Given the description of an element on the screen output the (x, y) to click on. 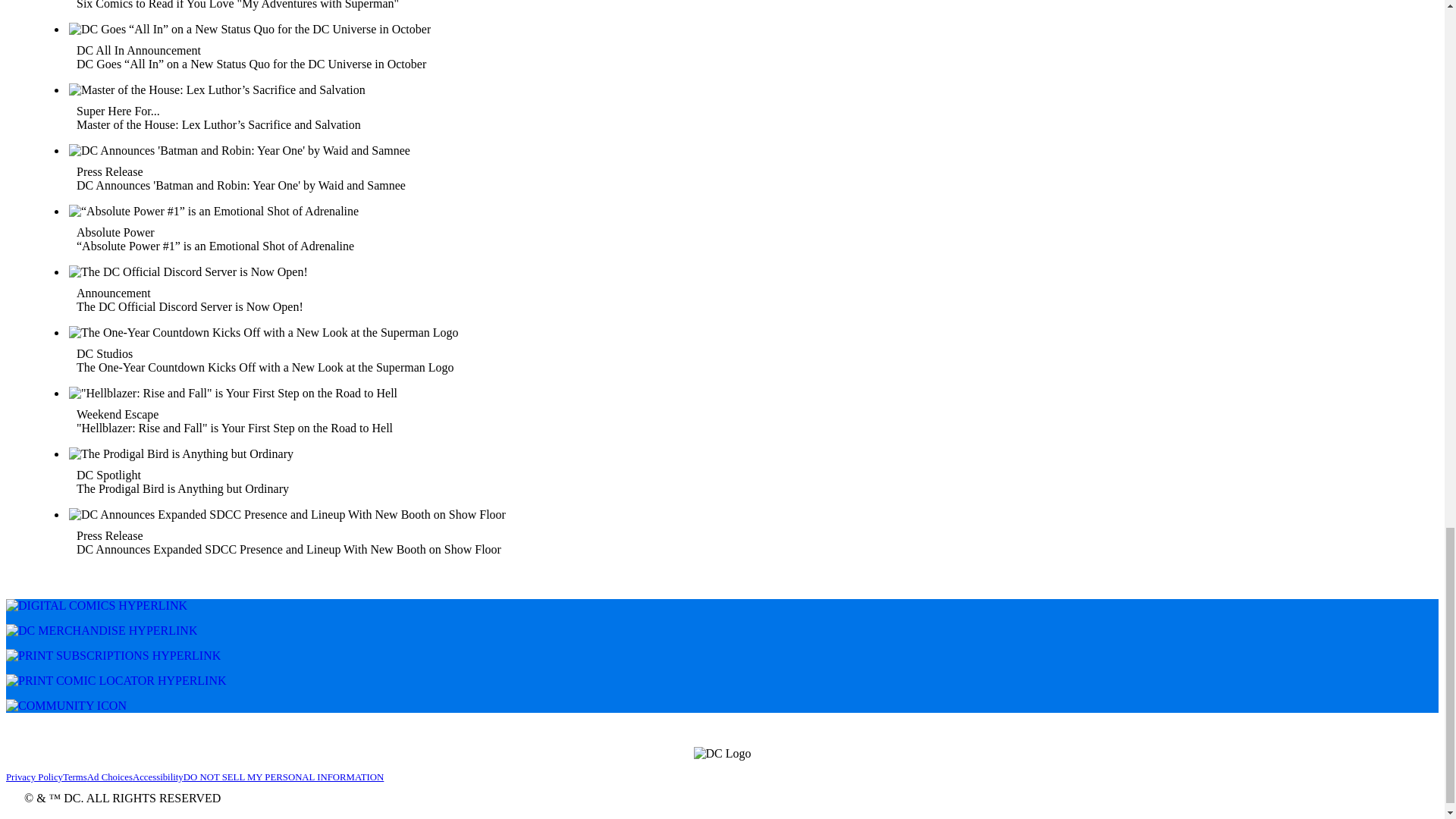
Six Comics to Read if You Love "My Adventures with Superman" (739, 9)
Six Comics to Read if You Love "My Adventures with Superman" (243, 5)
